Given the description of an element on the screen output the (x, y) to click on. 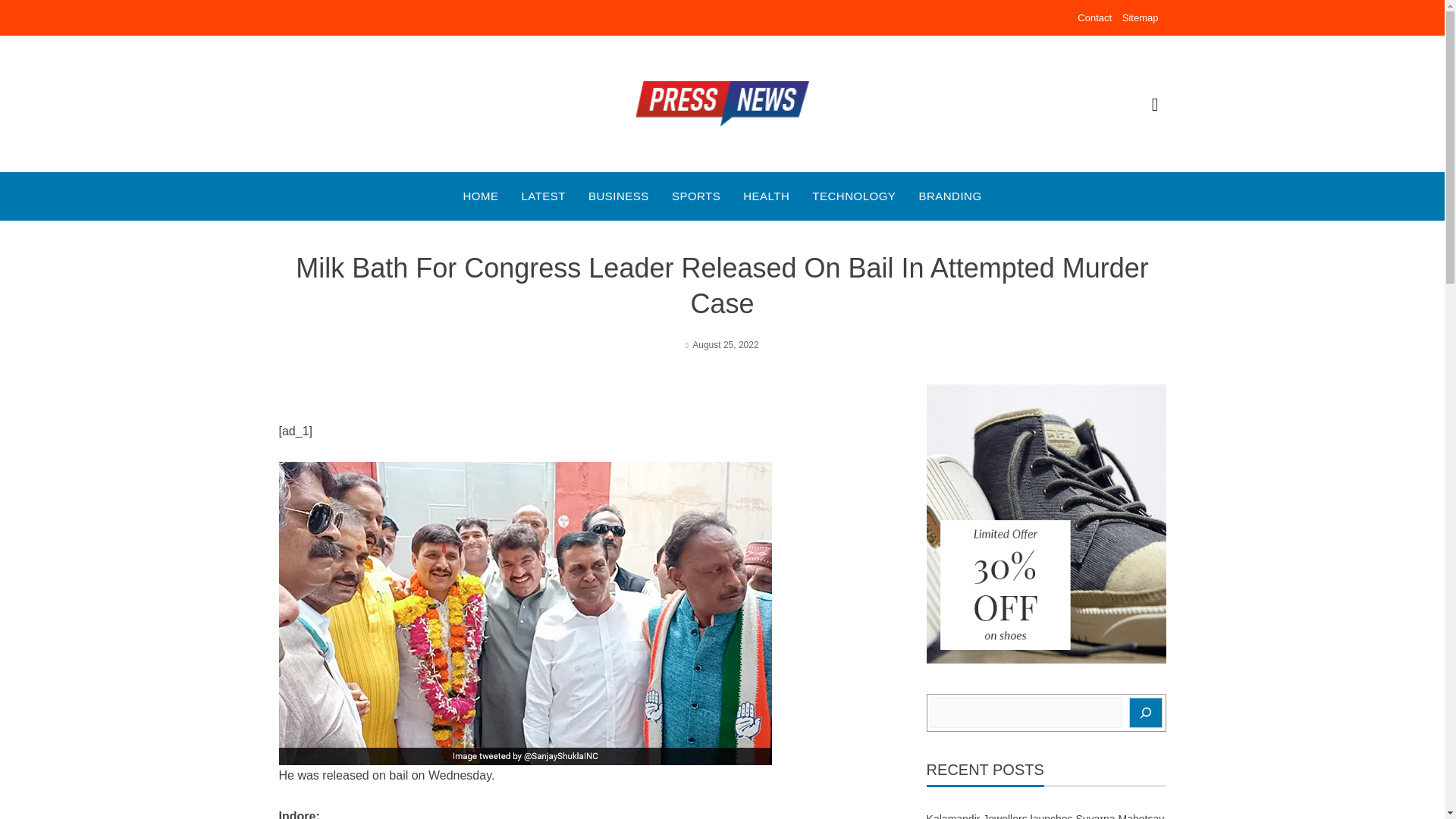
HOME (480, 196)
Sitemap (1140, 17)
BUSINESS (618, 196)
Contact (1094, 17)
SPORTS (695, 196)
BRANDING (949, 196)
LATEST (543, 196)
TECHNOLOGY (853, 196)
HEALTH (765, 196)
